Given the description of an element on the screen output the (x, y) to click on. 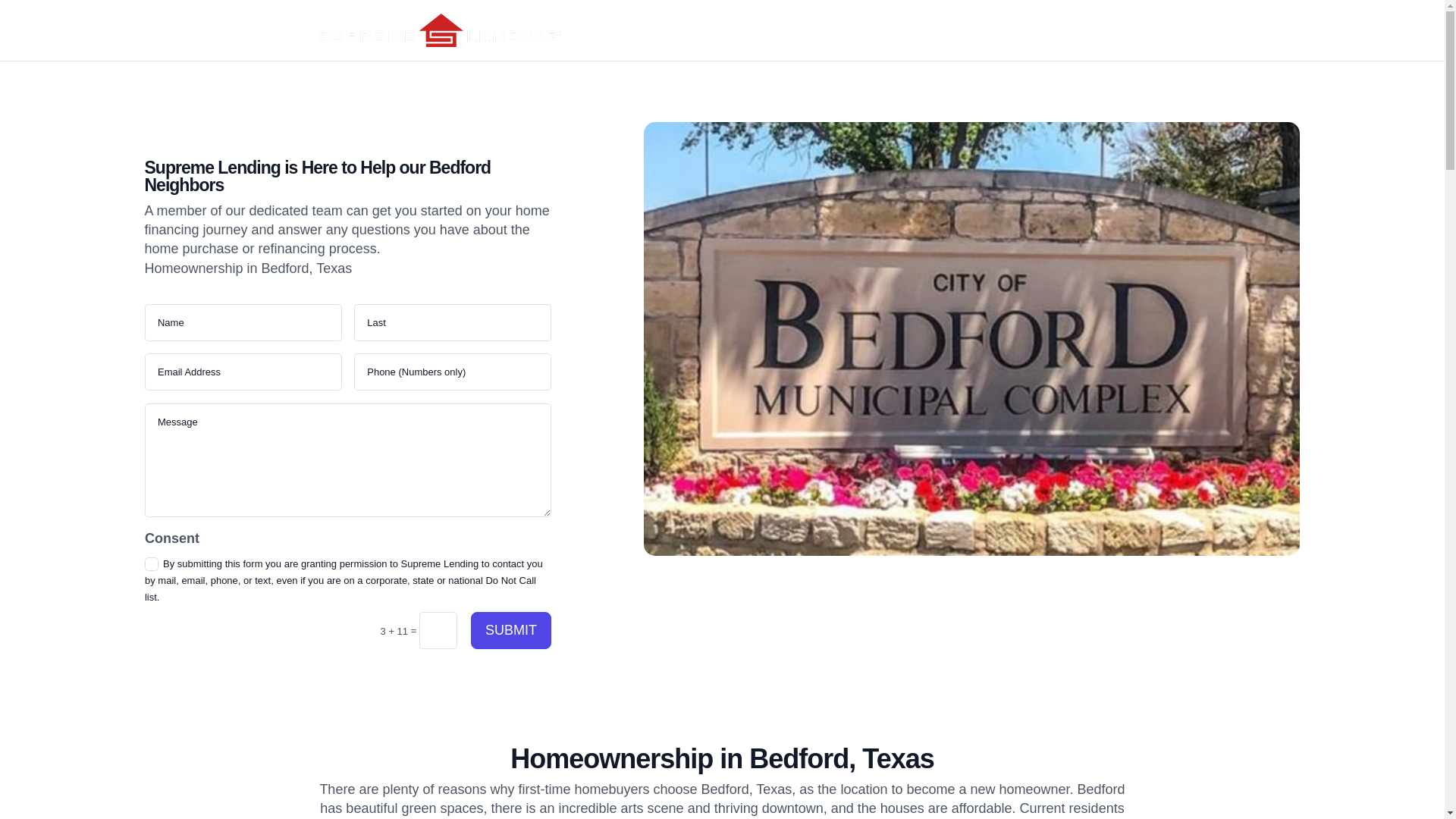
SUBMIT (510, 630)
Contact Us (1024, 42)
Calculators (1102, 42)
Loan Products (896, 42)
Only numbers allowed. (452, 371)
